Given the description of an element on the screen output the (x, y) to click on. 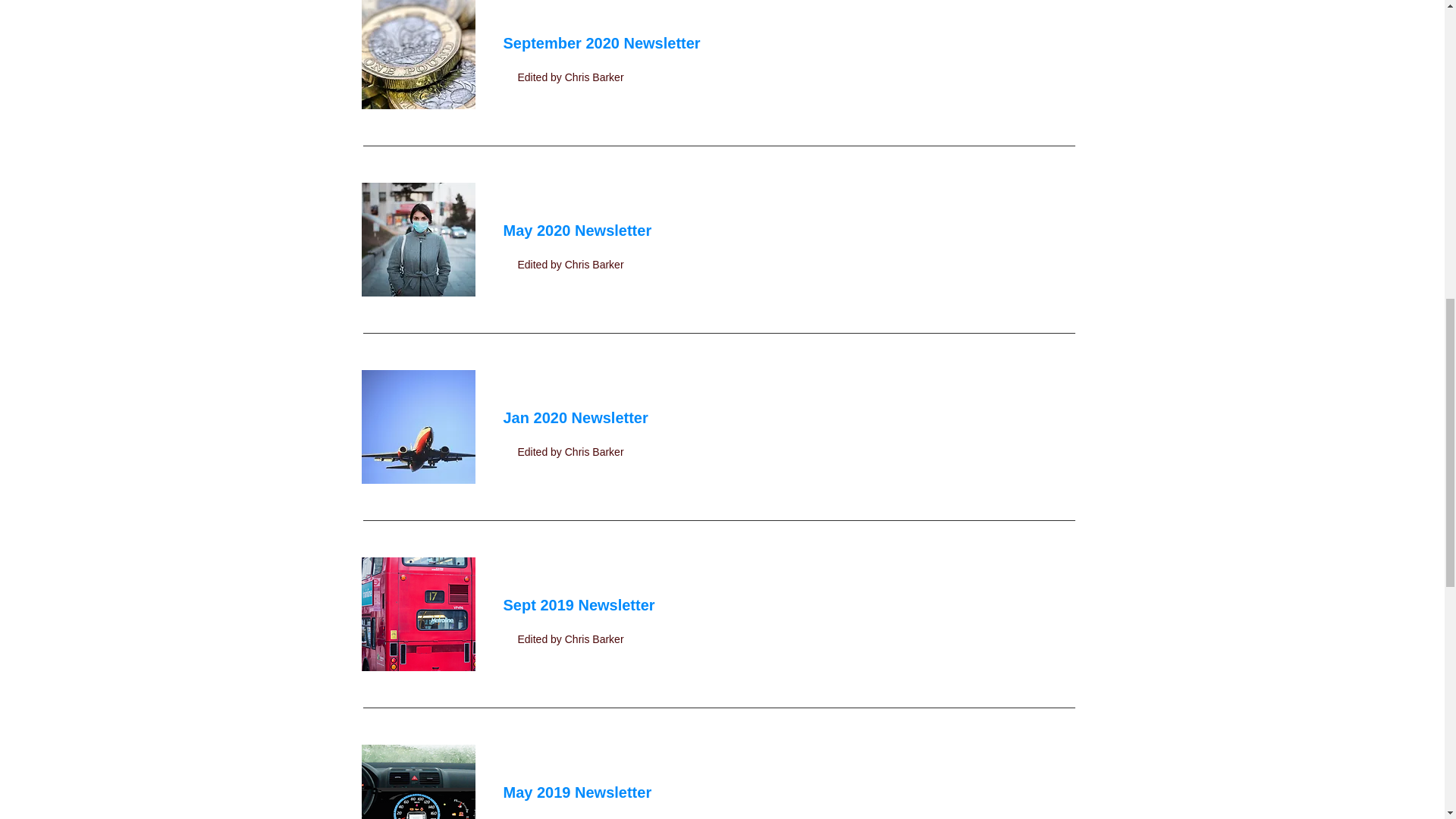
Sept 2019 (538, 605)
September 2020 (561, 43)
May 2019 Newsletter (577, 791)
Jan 2020 (537, 417)
May 2020 Newsletter (577, 230)
